Given the description of an element on the screen output the (x, y) to click on. 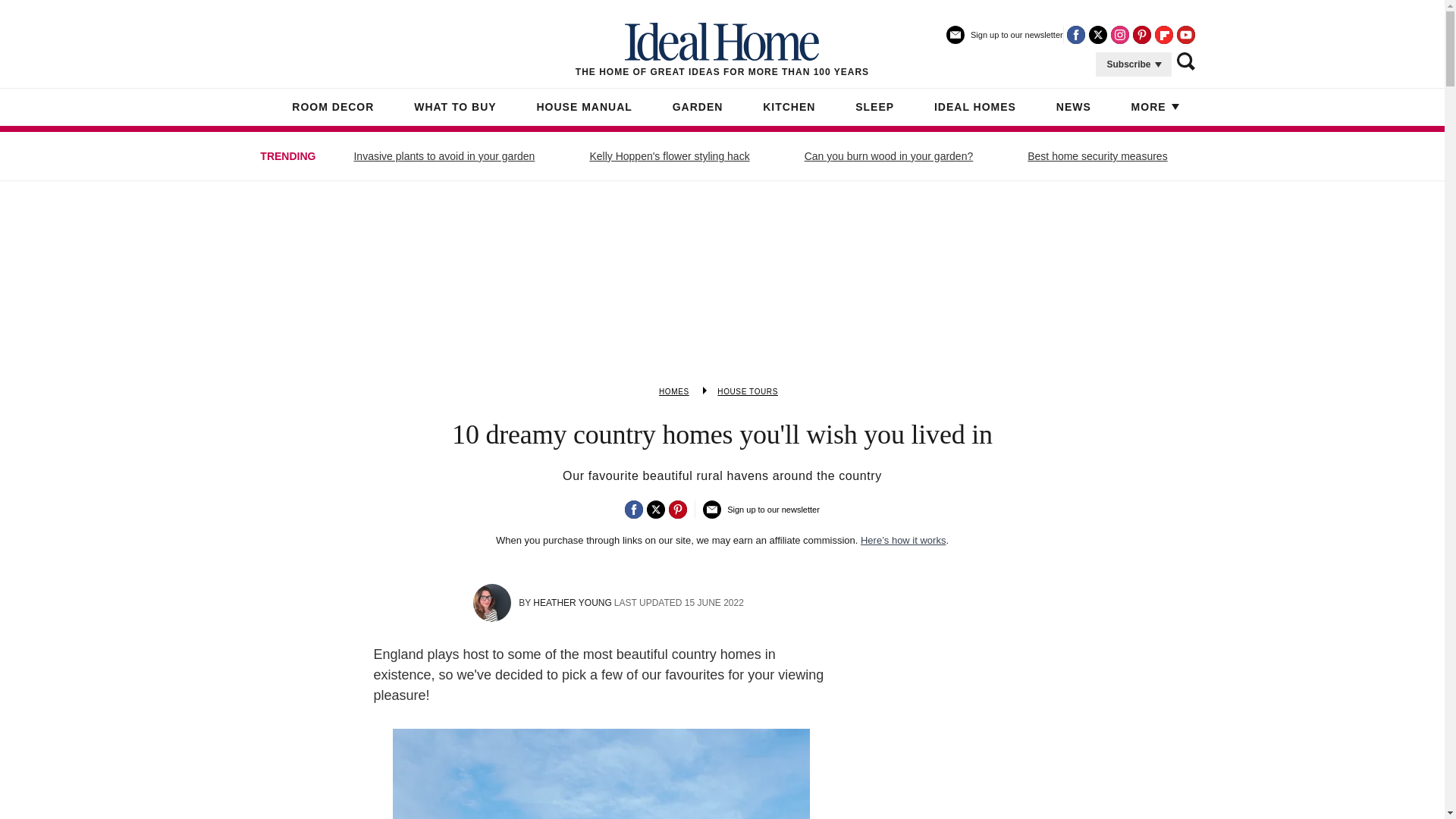
HOUSE TOURS (747, 391)
Sign up to our newsletter (1004, 40)
Kelly Hoppen's flower styling hack (668, 155)
Can you burn wood in your garden? (888, 155)
WHAT TO BUY (454, 108)
ROOM DECOR (333, 108)
HOMES (673, 391)
IDEAL HOMES (975, 108)
NEWS (1073, 108)
GARDEN (697, 108)
HOUSE MANUAL (583, 108)
Best home security measures (1097, 155)
Invasive plants to avoid in your garden (443, 155)
KITCHEN (788, 108)
SLEEP (874, 108)
